Given the description of an element on the screen output the (x, y) to click on. 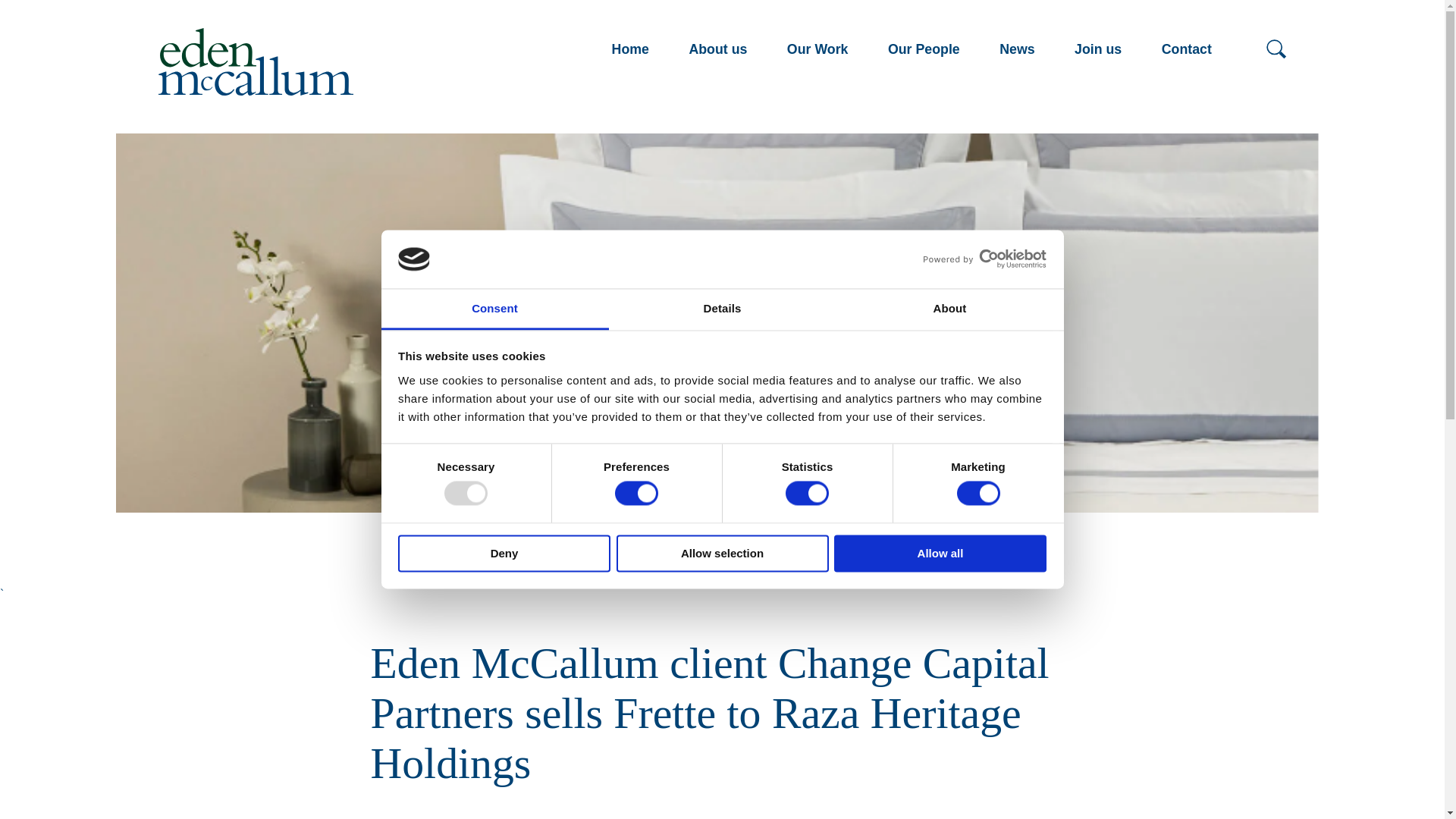
Deny (503, 552)
Allow selection (721, 552)
Details (721, 309)
Consent (494, 309)
About (948, 309)
Allow all (940, 552)
